Given the description of an element on the screen output the (x, y) to click on. 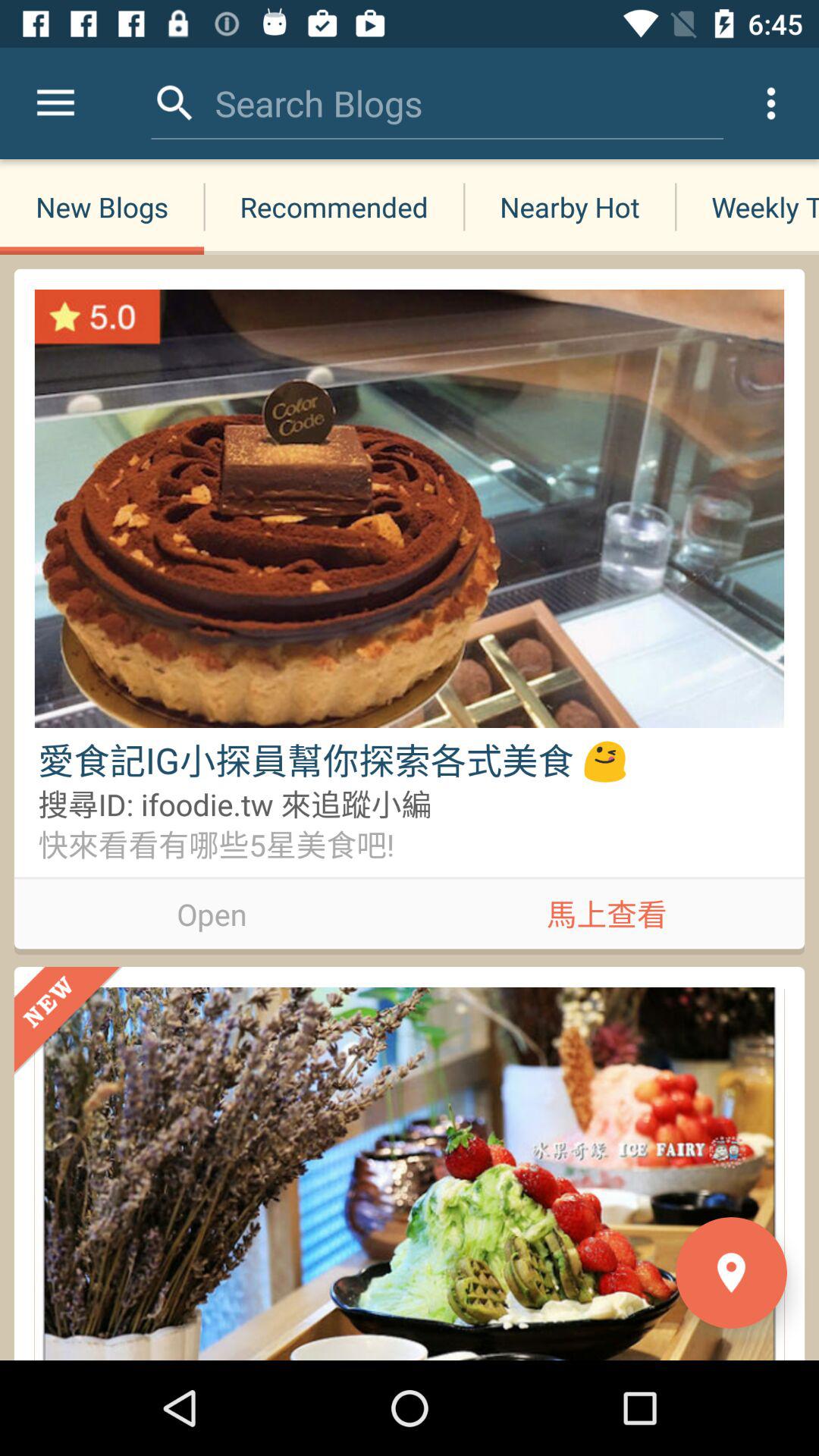
flip to nearby hot icon (569, 206)
